Given the description of an element on the screen output the (x, y) to click on. 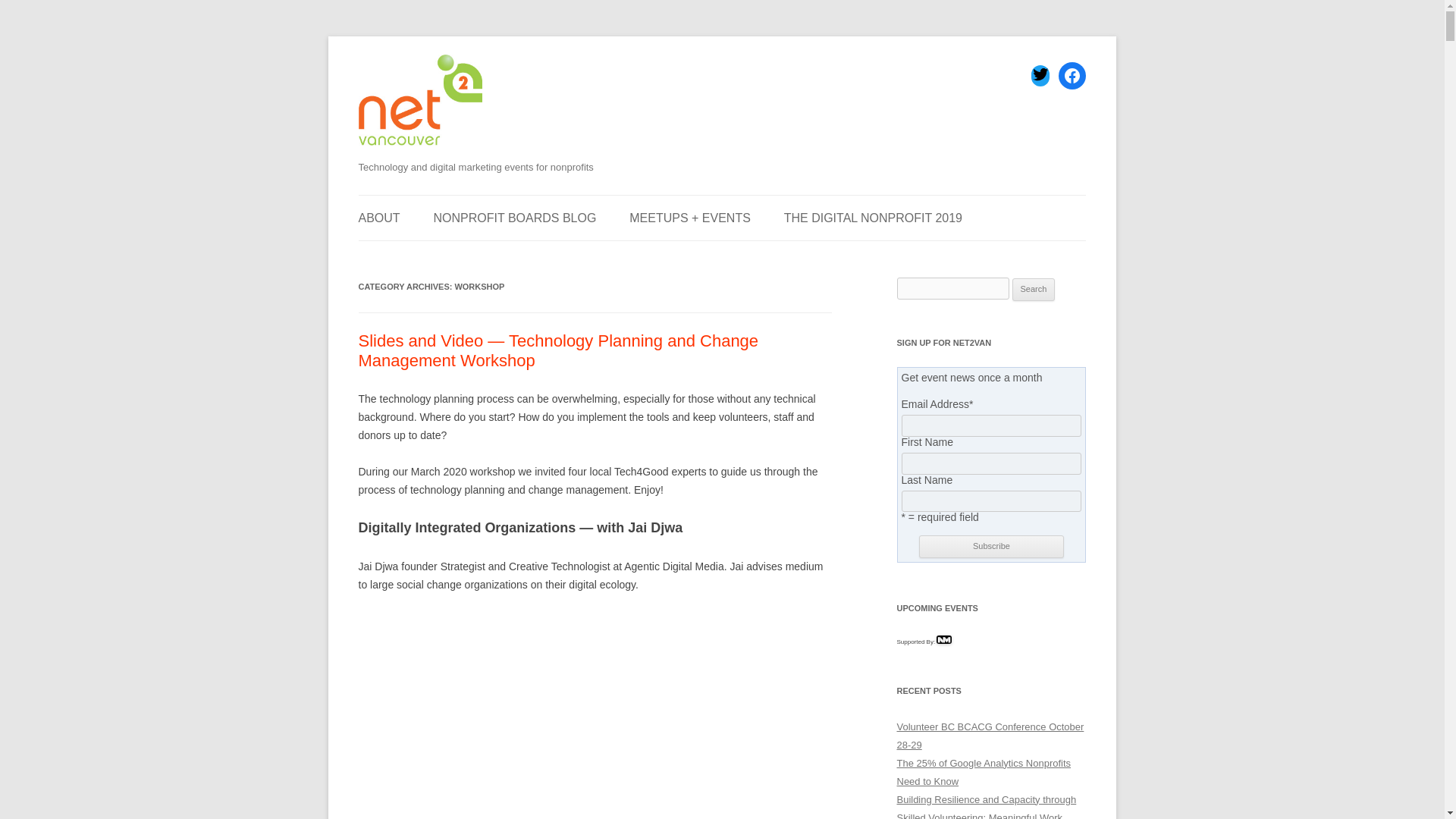
Subscribe (990, 546)
Search (1033, 289)
ABOUT (378, 217)
THE DIGITAL NONPROFIT 2019 (873, 217)
SUGGEST AN EVENT (433, 255)
NONPROFIT BOARDS BLOG (514, 217)
